Given the description of an element on the screen output the (x, y) to click on. 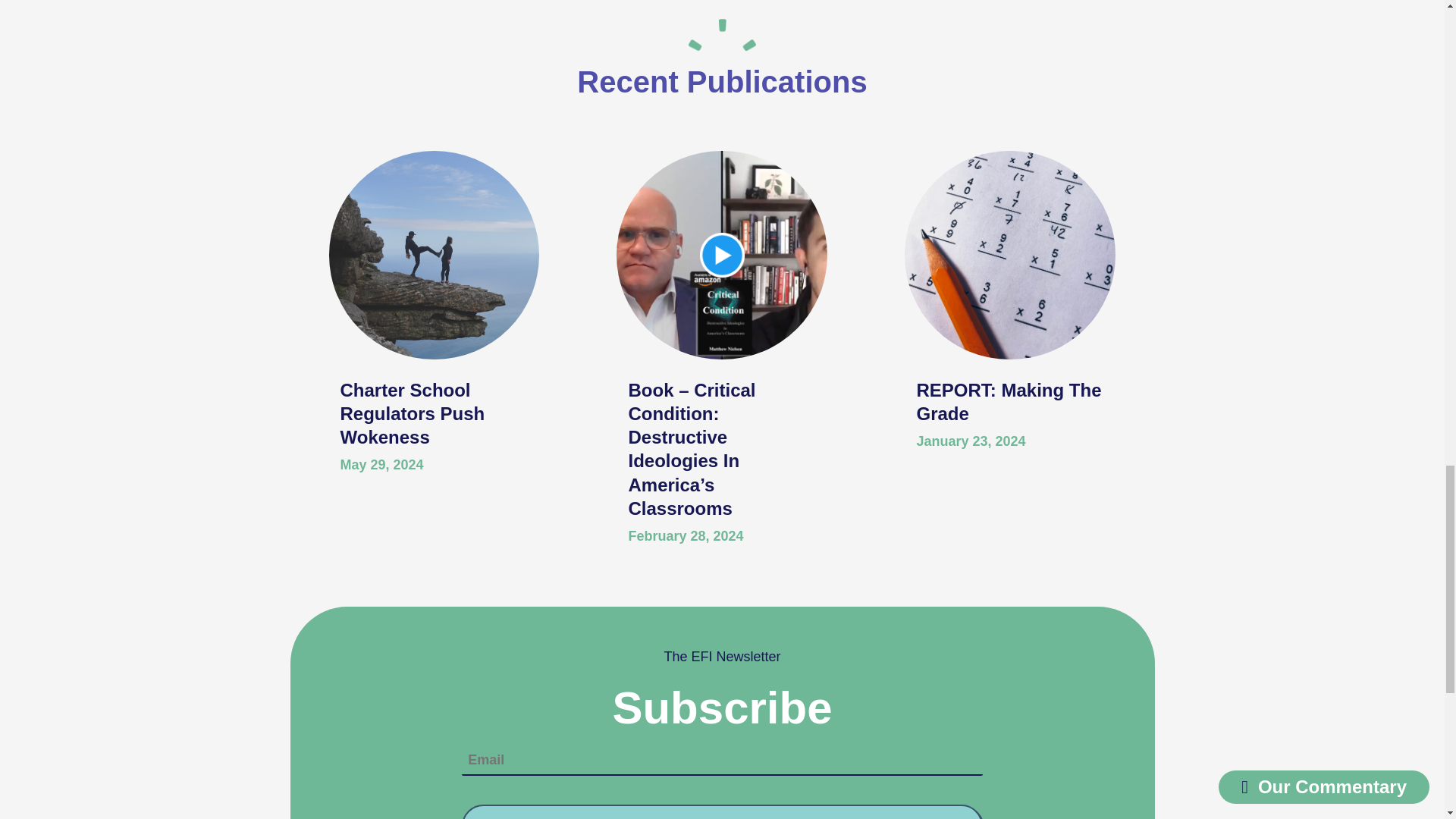
Charter School Regulators Push Wokeness (411, 413)
REPORT: Making the Grade (1007, 402)
Subscribe (721, 811)
